Given the description of an element on the screen output the (x, y) to click on. 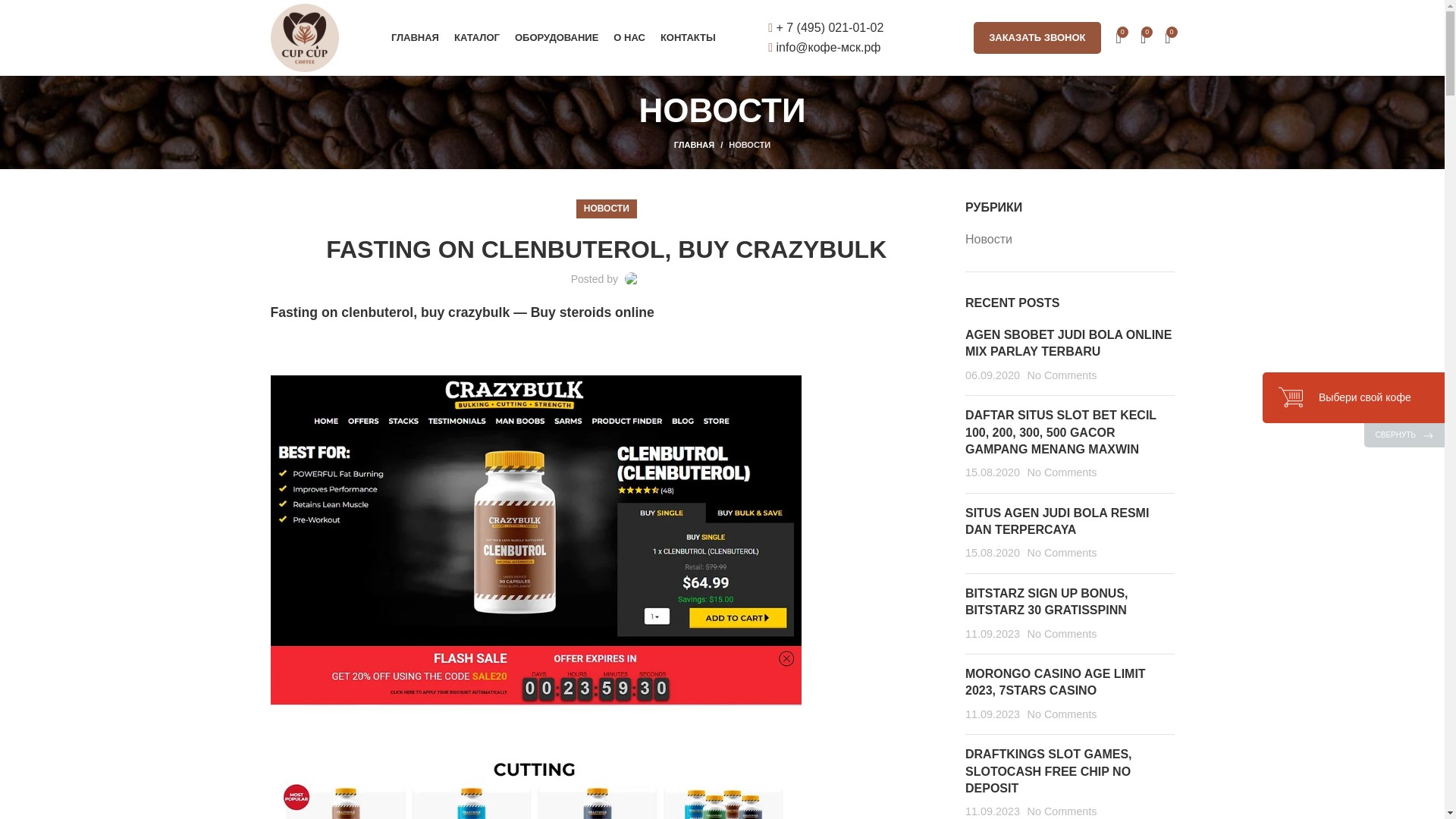
Permalink to Agen Sbobet Judi Bola Online Mix Parlay Terbaru (1068, 342)
BITSTARZ SIGN UP BONUS, BITSTARZ 30 GRATISSPINN (1046, 601)
clenbuterol on fasting (534, 788)
No Comments (1061, 552)
AGEN SBOBET JUDI BOLA ONLINE MIX PARLAY TERBARU (1068, 342)
Permalink to Morongo casino age limit 2023, 7stars casino (1055, 681)
No Comments (1061, 375)
Permalink to Bitstarz sign up bonus, bitstarz 30 gratisspinn (1046, 601)
SITUS AGEN JUDI BOLA RESMI DAN TERPERCAYA (1056, 521)
No Comments (1061, 472)
Permalink to Situs Agen Judi Bola Resmi Dan Terpercaya (1056, 521)
